Given the description of an element on the screen output the (x, y) to click on. 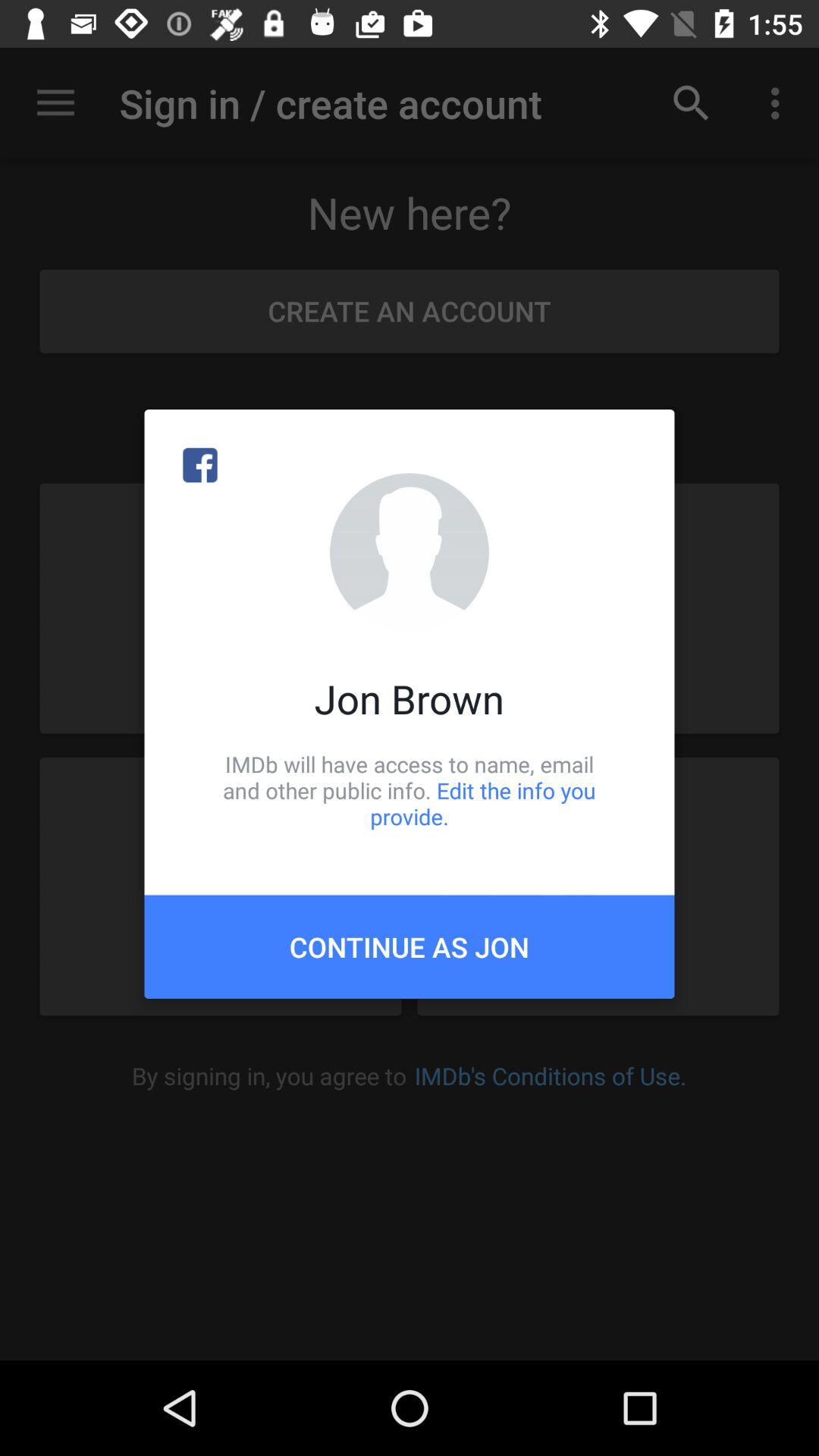
flip to imdb will have (409, 790)
